Given the description of an element on the screen output the (x, y) to click on. 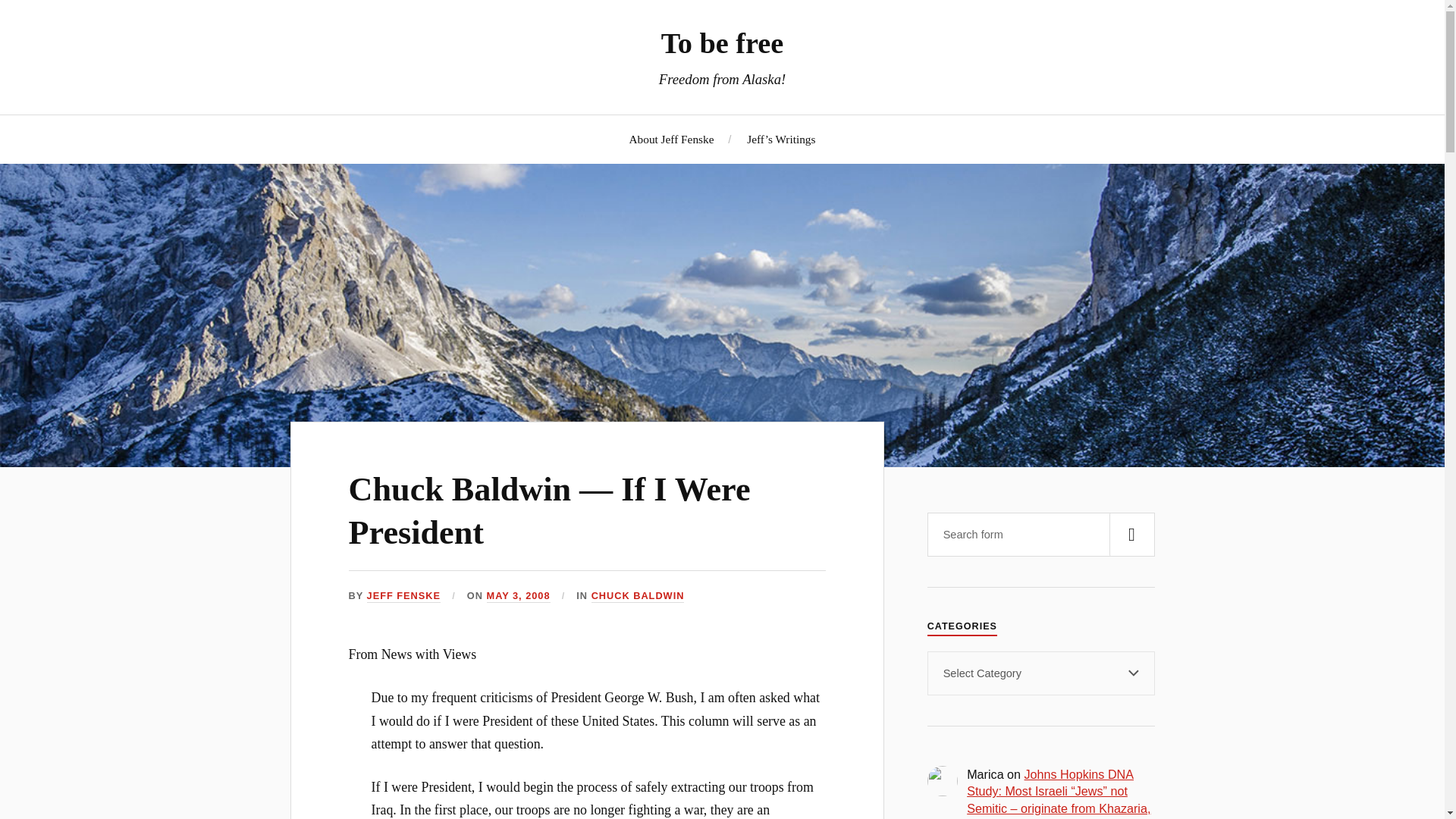
About Jeff Fenske (671, 138)
Posts by Jeff Fenske (403, 595)
CHUCK BALDWIN (637, 595)
To be free (722, 42)
JEFF FENSKE (403, 595)
MAY 3, 2008 (518, 595)
